Given the description of an element on the screen output the (x, y) to click on. 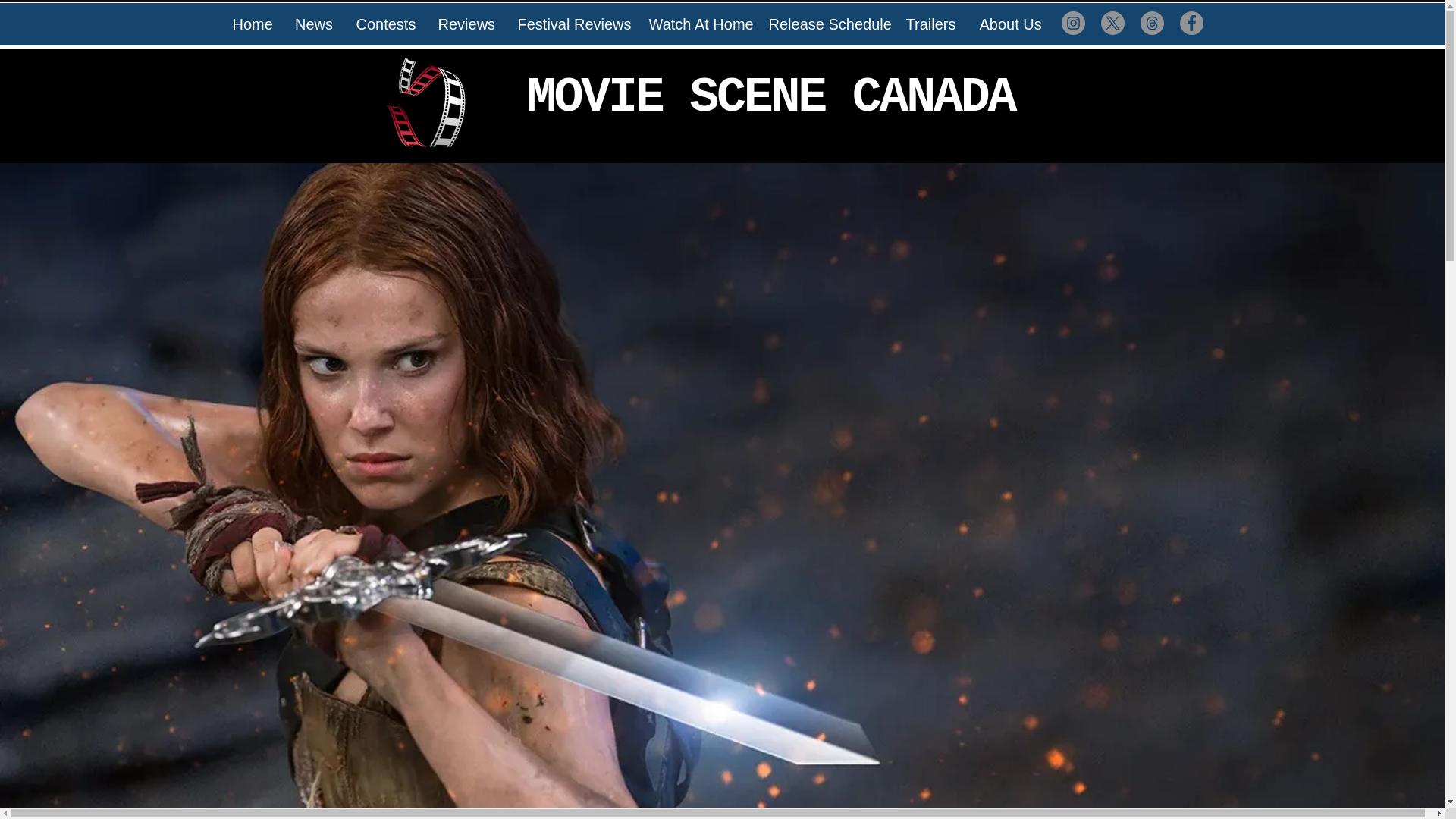
Home (252, 24)
News (314, 24)
Release Schedule (825, 24)
Watch At Home (697, 24)
Trailers (930, 24)
Reviews (465, 24)
About Us (1008, 24)
Contests (384, 24)
